Given the description of an element on the screen output the (x, y) to click on. 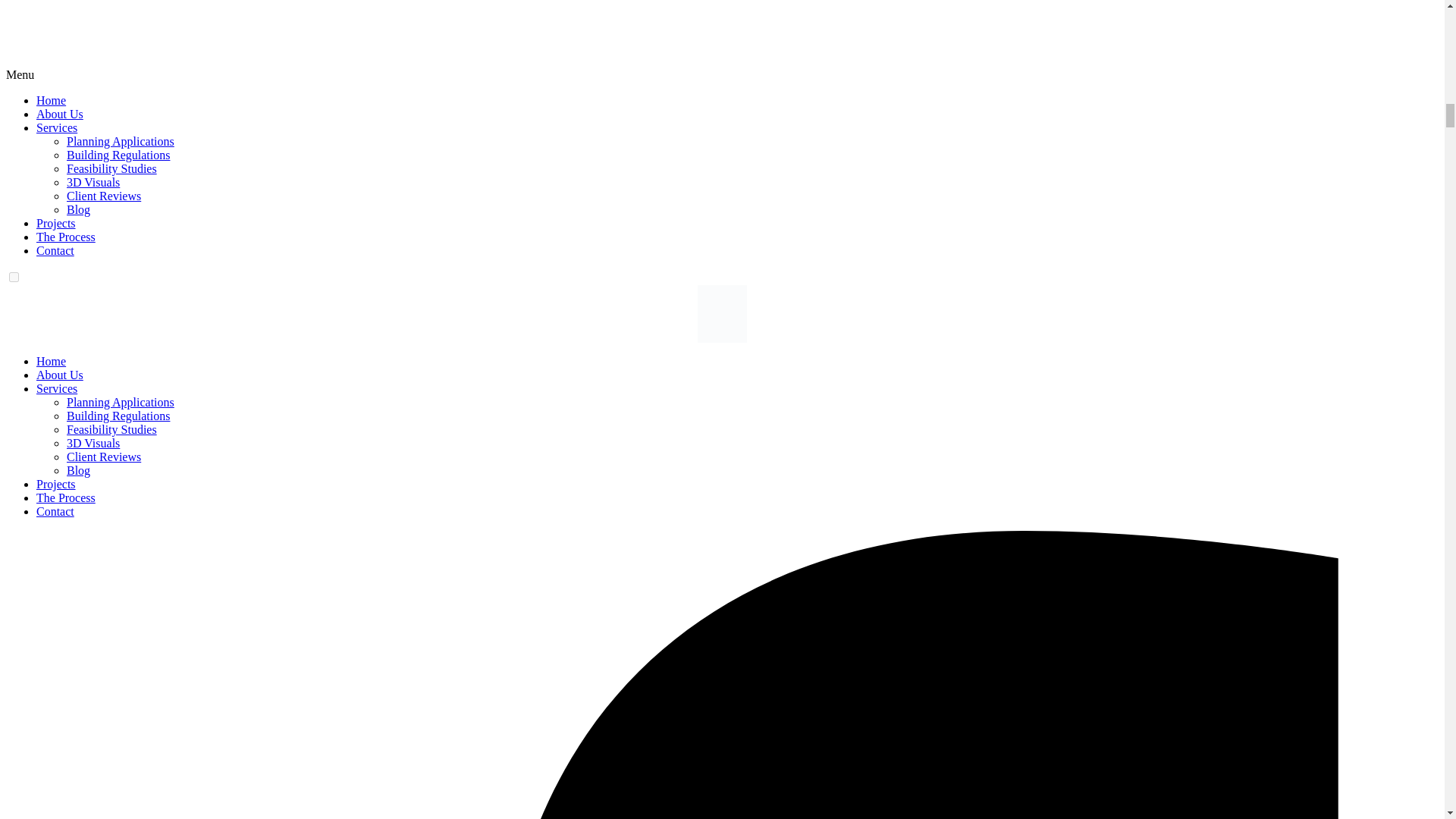
The Process (66, 497)
Building Regulations (118, 415)
Projects (55, 223)
Projects (55, 483)
About Us (59, 113)
Feasibility Studies (111, 168)
Blog (78, 470)
3D Visuals (92, 442)
Blog (78, 209)
Contact (55, 250)
